Given the description of an element on the screen output the (x, y) to click on. 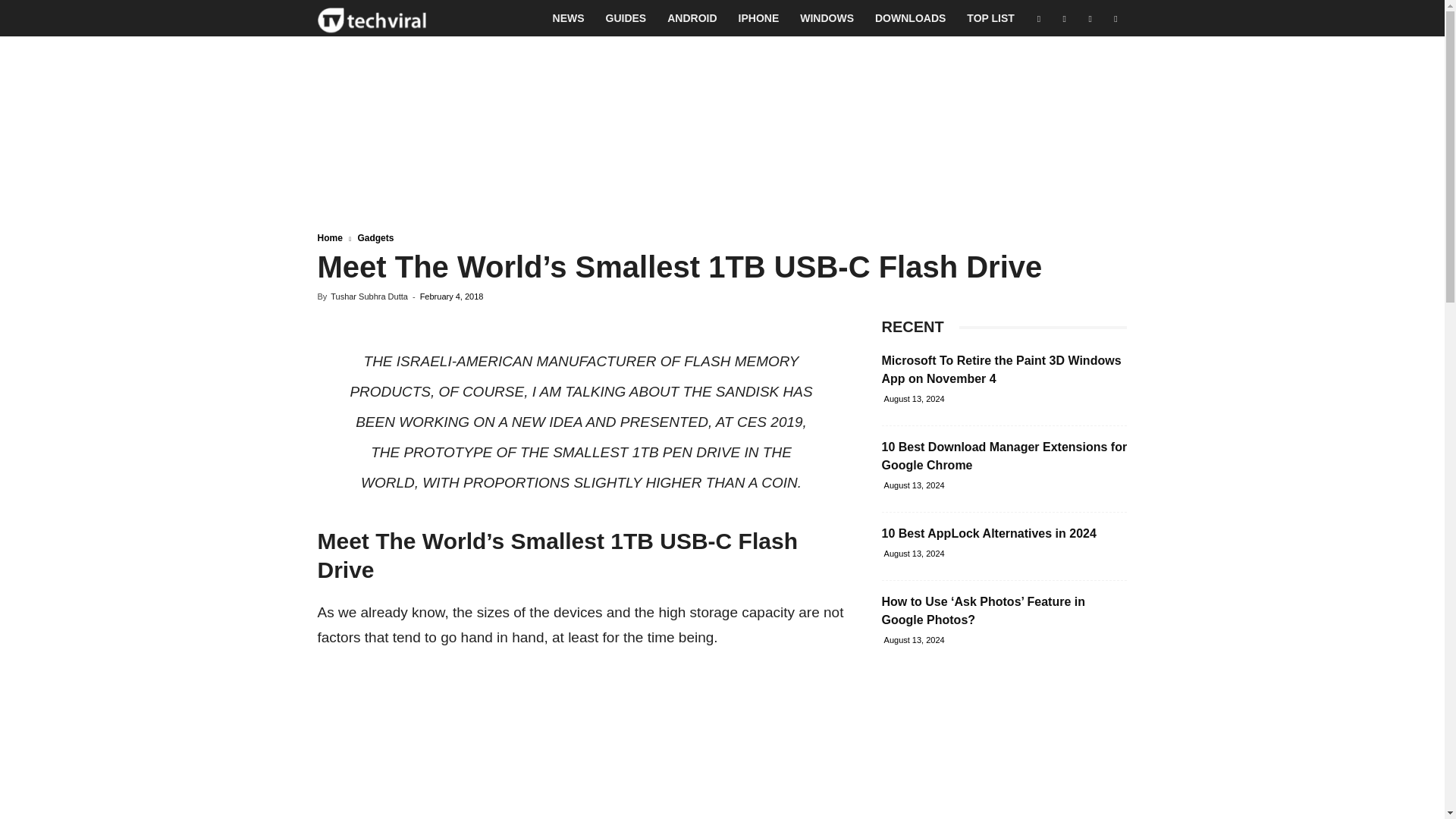
Microsoft To Retire the Paint 3D Windows App on November 4 (1000, 368)
10 Best Download Manager Extensions for Google Chrome (1003, 455)
Home (329, 237)
GUIDES (626, 18)
DOWNLOADS (910, 18)
ANDROID (691, 18)
TOP LIST (990, 18)
WINDOWS (826, 18)
TechViral (371, 18)
Tushar Subhra Dutta (368, 296)
